Given the description of an element on the screen output the (x, y) to click on. 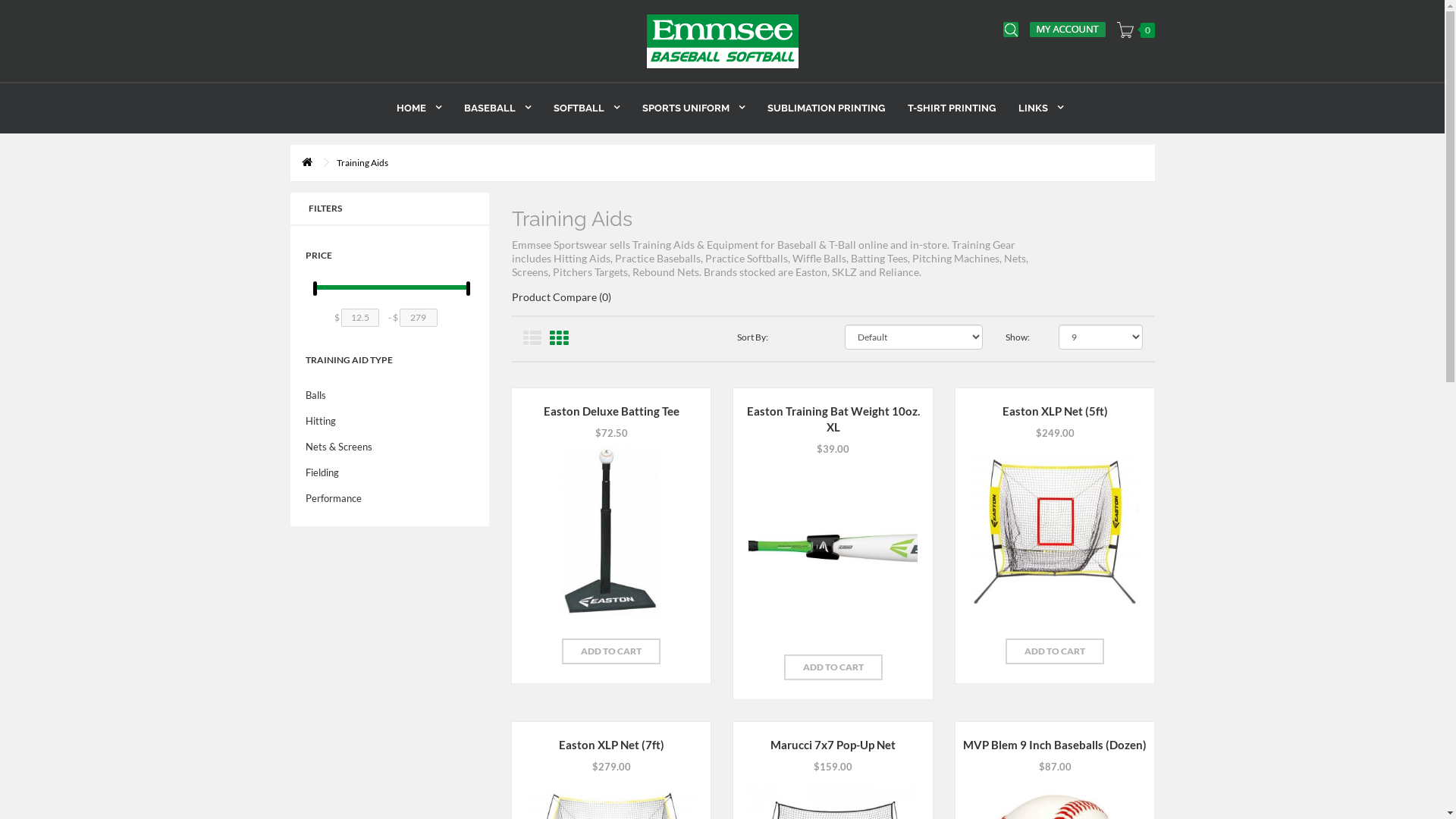
Balls Element type: text (388, 394)
Easton XLP Net (7ft) Element type: text (611, 744)
Easton Deluxe Batting Tee Element type: text (611, 410)
Marucci 7x7 Pop-Up Net Element type: text (832, 744)
SOFTBALL Element type: text (578, 108)
Easton Training Bat Weight 10oz. XL Element type: text (832, 418)
LINKS Element type: text (1032, 108)
ADD TO CART Element type: text (610, 651)
Nets & Screens Element type: text (388, 446)
BASEBALL Element type: text (489, 108)
Training Aids Element type: text (362, 162)
T-SHIRT PRINTING Element type: text (943, 108)
Product Compare (0) Element type: text (561, 296)
Easton Deluxe Batting Tee Element type: hover (611, 531)
HOME Element type: text (411, 108)
Easton XLP Net (5ft) Element type: hover (1054, 531)
SPORTS UNIFORM Element type: text (685, 108)
Performance Element type: text (388, 498)
Emmsee Sportswear Element type: hover (721, 41)
My Account Element type: text (1067, 29)
MVP Blem 9 Inch Baseballs (Dozen) Element type: text (1054, 744)
Easton Training Bat Weight 10oz. XL Element type: hover (832, 547)
0 Element type: text (1135, 29)
Hitting Element type: text (388, 420)
ADD TO CART Element type: text (1054, 651)
SUBLIMATION PRINTING Element type: text (818, 108)
Fielding Element type: text (388, 472)
Easton XLP Net (5ft) Element type: text (1054, 410)
ADD TO CART Element type: text (833, 667)
